Given the description of an element on the screen output the (x, y) to click on. 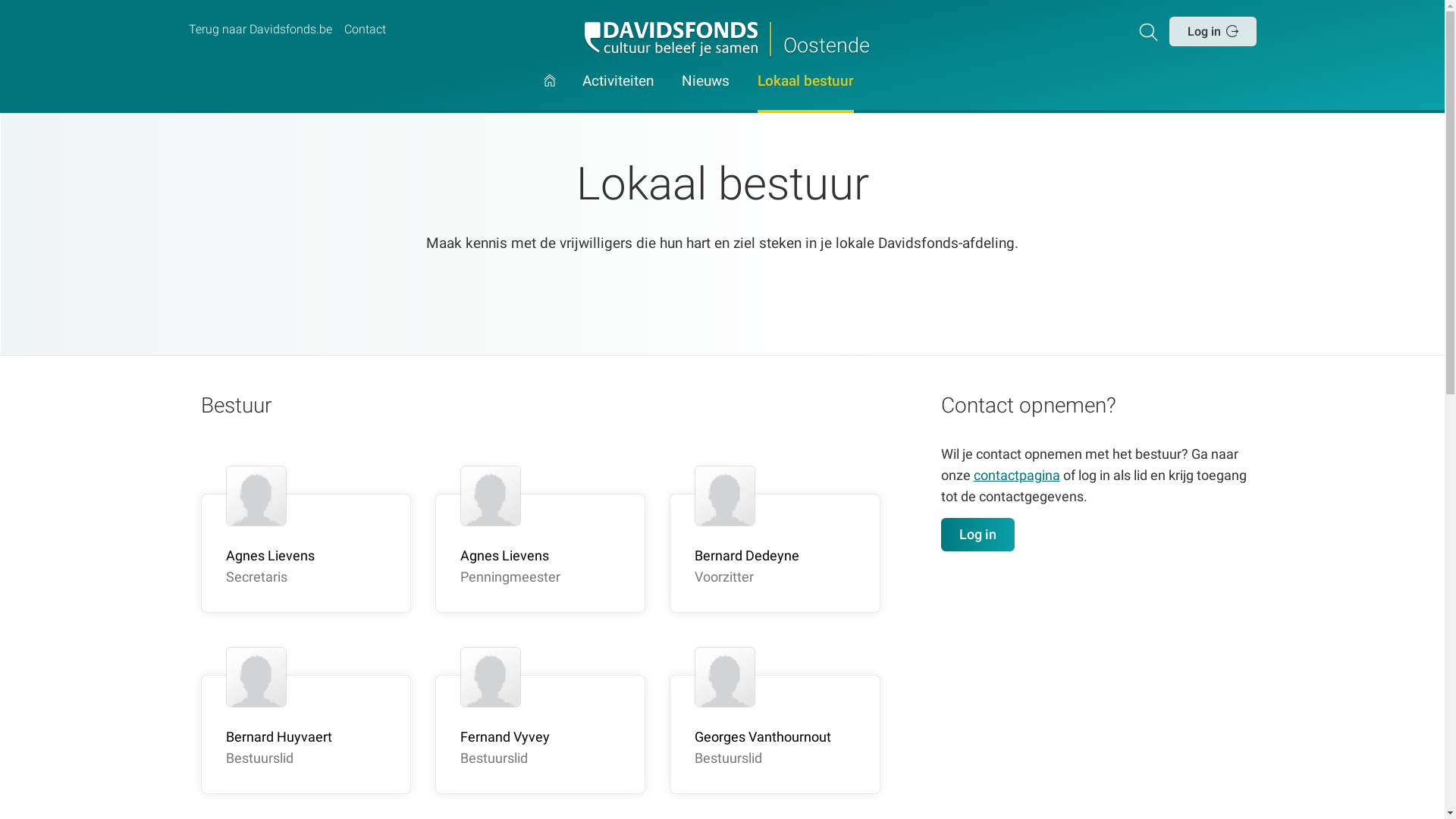
Oostende Element type: text (721, 38)
Nieuws Element type: text (705, 93)
Contact Element type: text (364, 30)
contactpagina Element type: text (1016, 475)
Terug naar Davidsfonds.be Element type: text (259, 30)
Hoofdpagina Element type: text (549, 93)
Log in Element type: text (1212, 30)
Lokaal bestuur Element type: text (805, 93)
Log in Element type: text (977, 534)
Zoeken Element type: text (1150, 31)
Activiteiten Element type: text (617, 93)
